Given the description of an element on the screen output the (x, y) to click on. 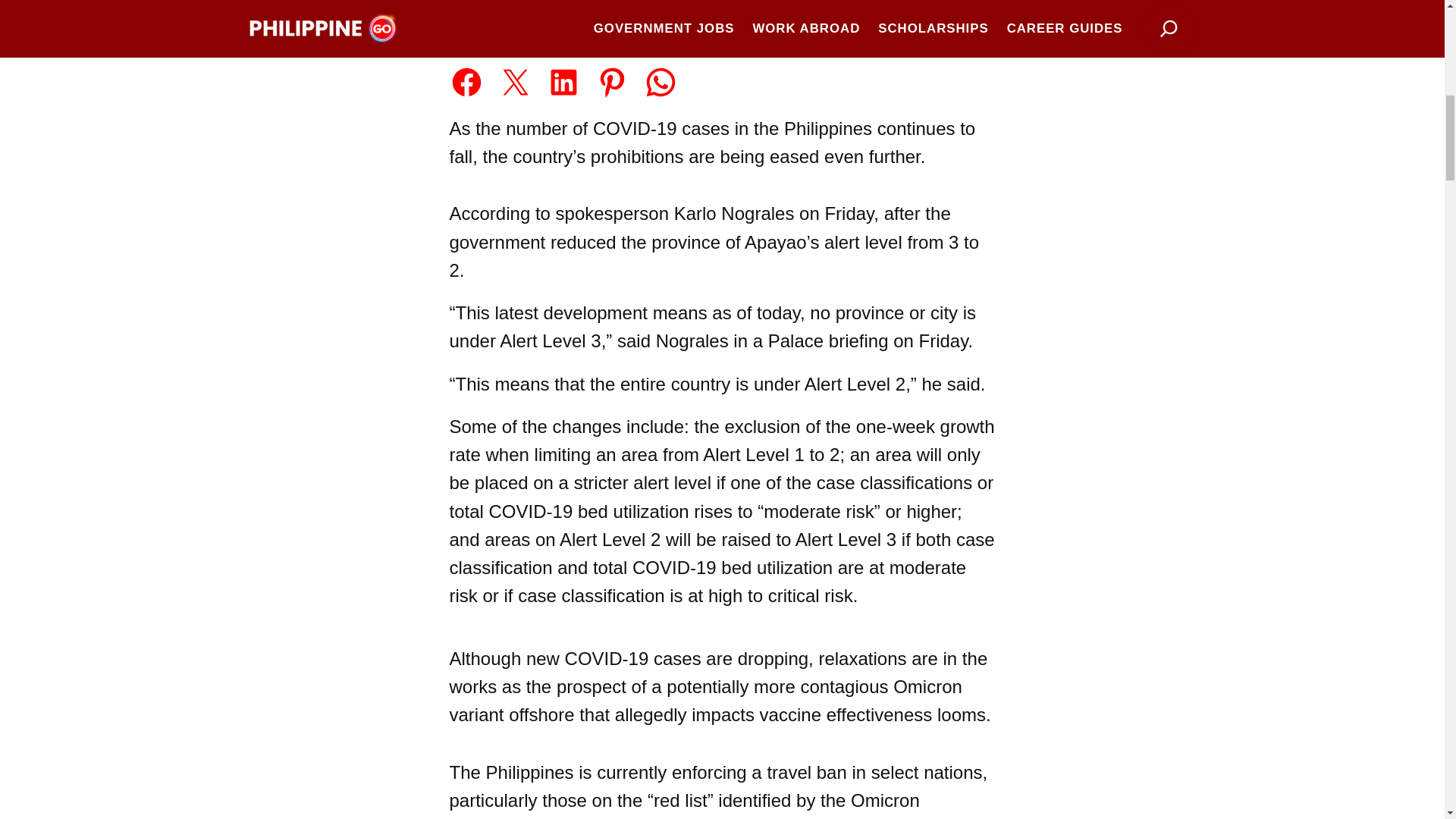
Share on Facebook (465, 82)
Share on Pinterest (611, 82)
Share on WhatsApp (660, 82)
Share on X (514, 82)
Share on LinkedIn (563, 82)
